Given the description of an element on the screen output the (x, y) to click on. 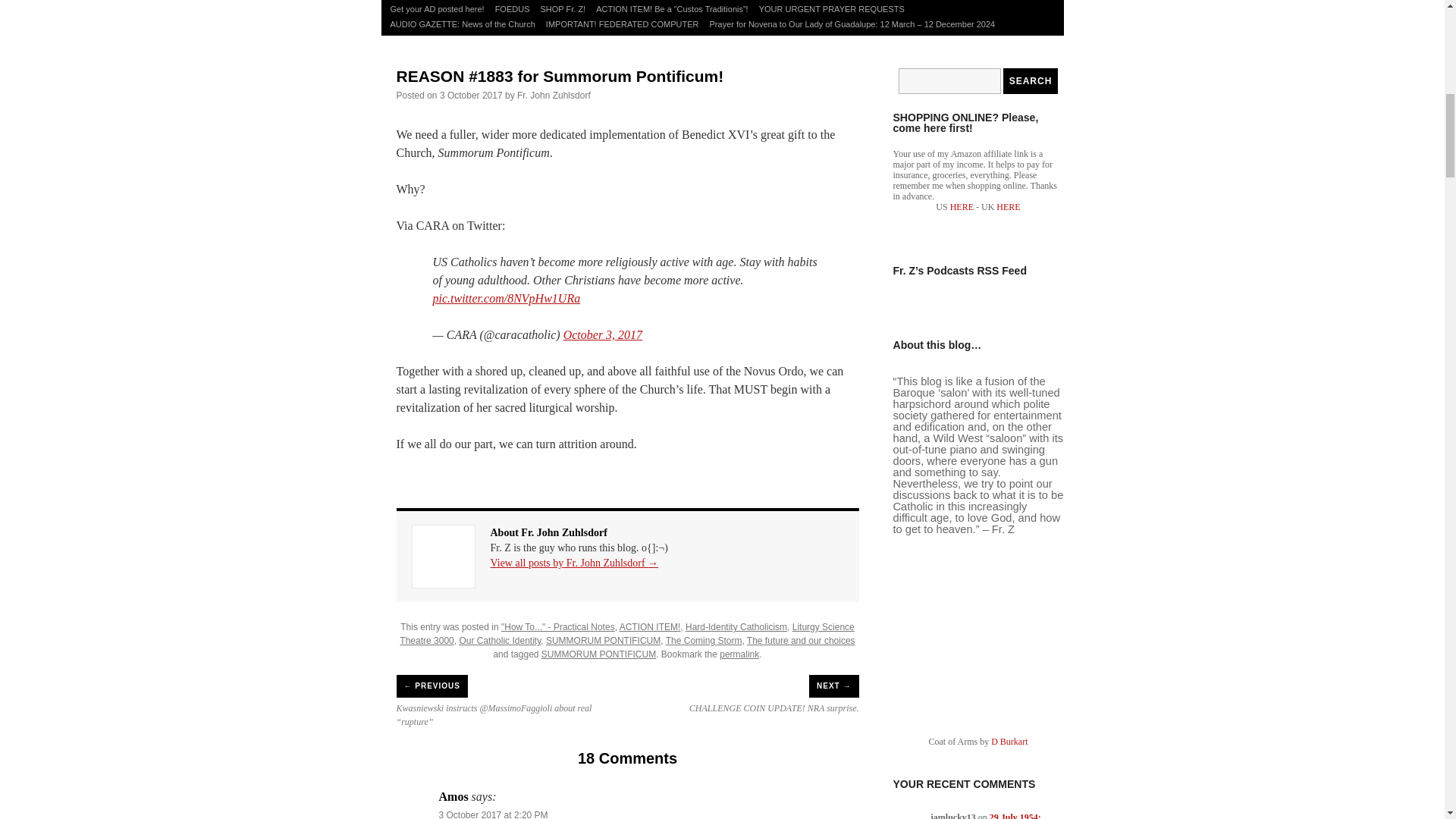
AUDIO GAZETTE: News of the Church (462, 23)
Fishwrap Prayer (505, 0)
Get your AD posted here! (437, 8)
View all posts by Fr. John Zuhlsdorf (553, 95)
IMPORTANT! FEDERATED COMPUTER (622, 23)
Buy Mystic Monk Coffee! (735, 0)
ACTIVATE YOUR CONFIRMATION (612, 0)
1:56 PM (470, 95)
FOEDUS (512, 8)
SHOP Fr. Z! (562, 8)
YOUR URGENT PRAYER REQUESTS (832, 8)
Search (1030, 80)
Fr. John Zuhlsdorf (553, 95)
Wherein Fr Z rants (827, 0)
Prayer for Vocations (427, 0)
